Given the description of an element on the screen output the (x, y) to click on. 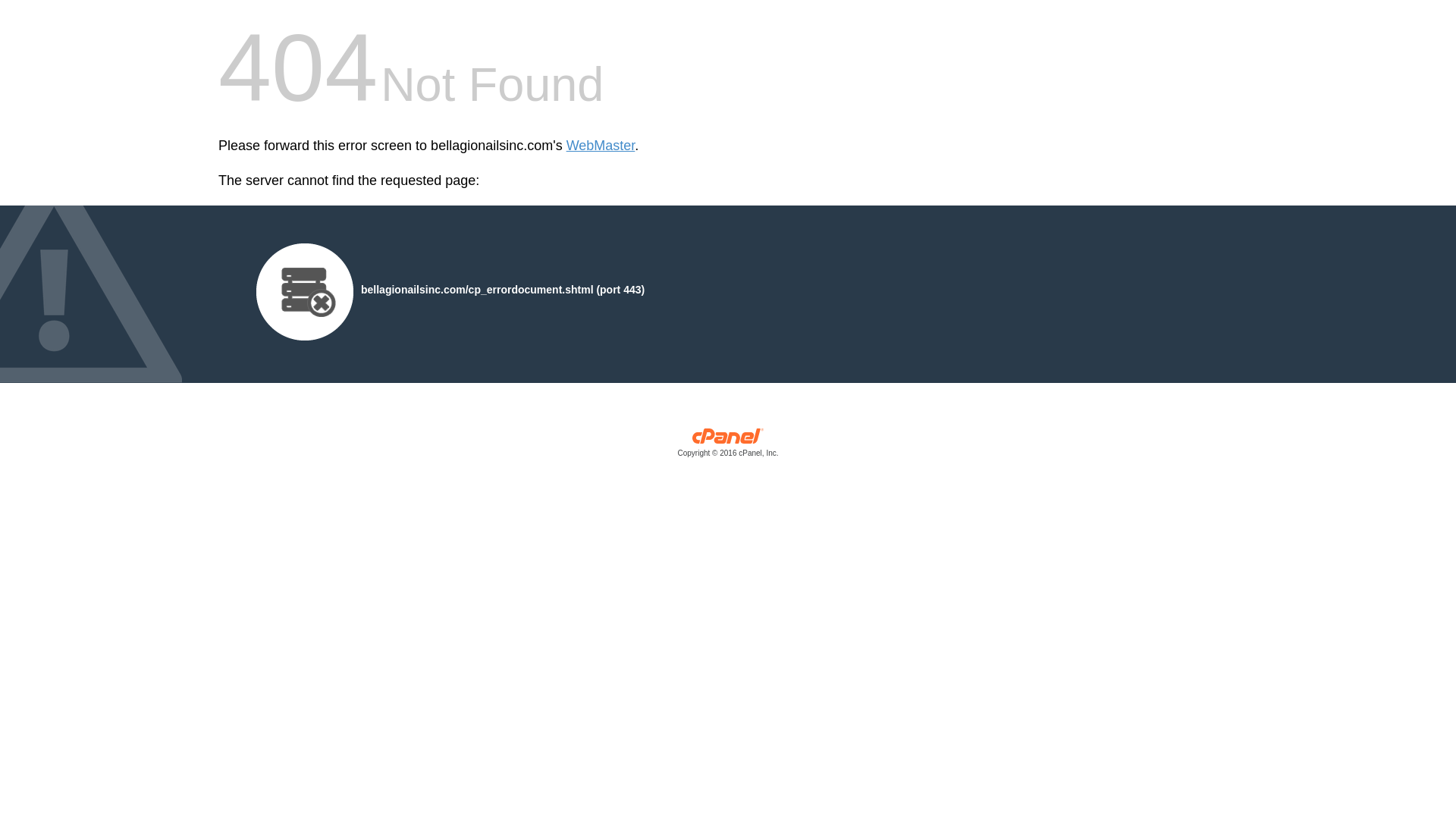
WebMaster (600, 145)
cPanel, Inc. (727, 446)
